Given the description of an element on the screen output the (x, y) to click on. 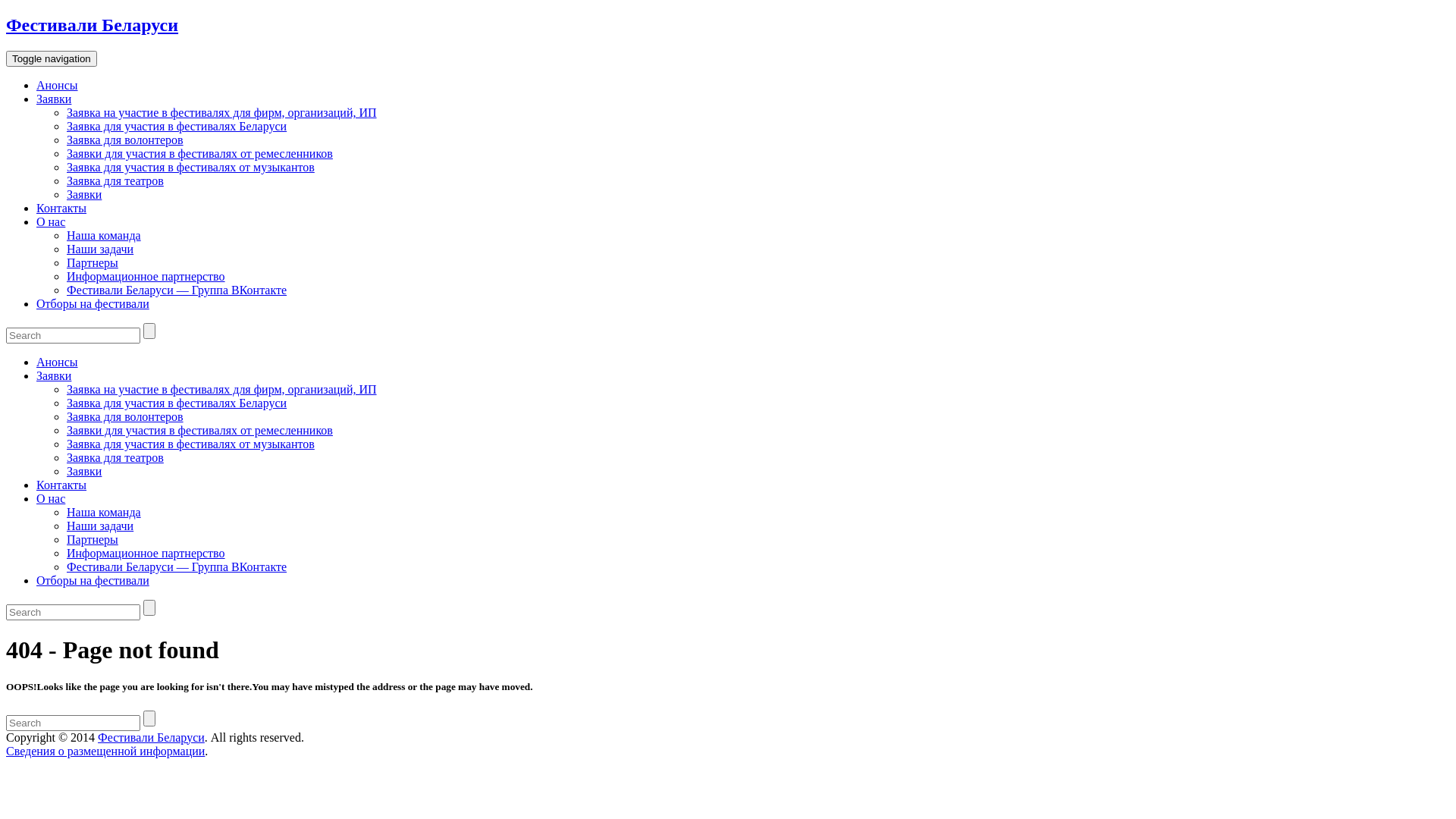
Toggle navigation Element type: text (51, 58)
